Given the description of an element on the screen output the (x, y) to click on. 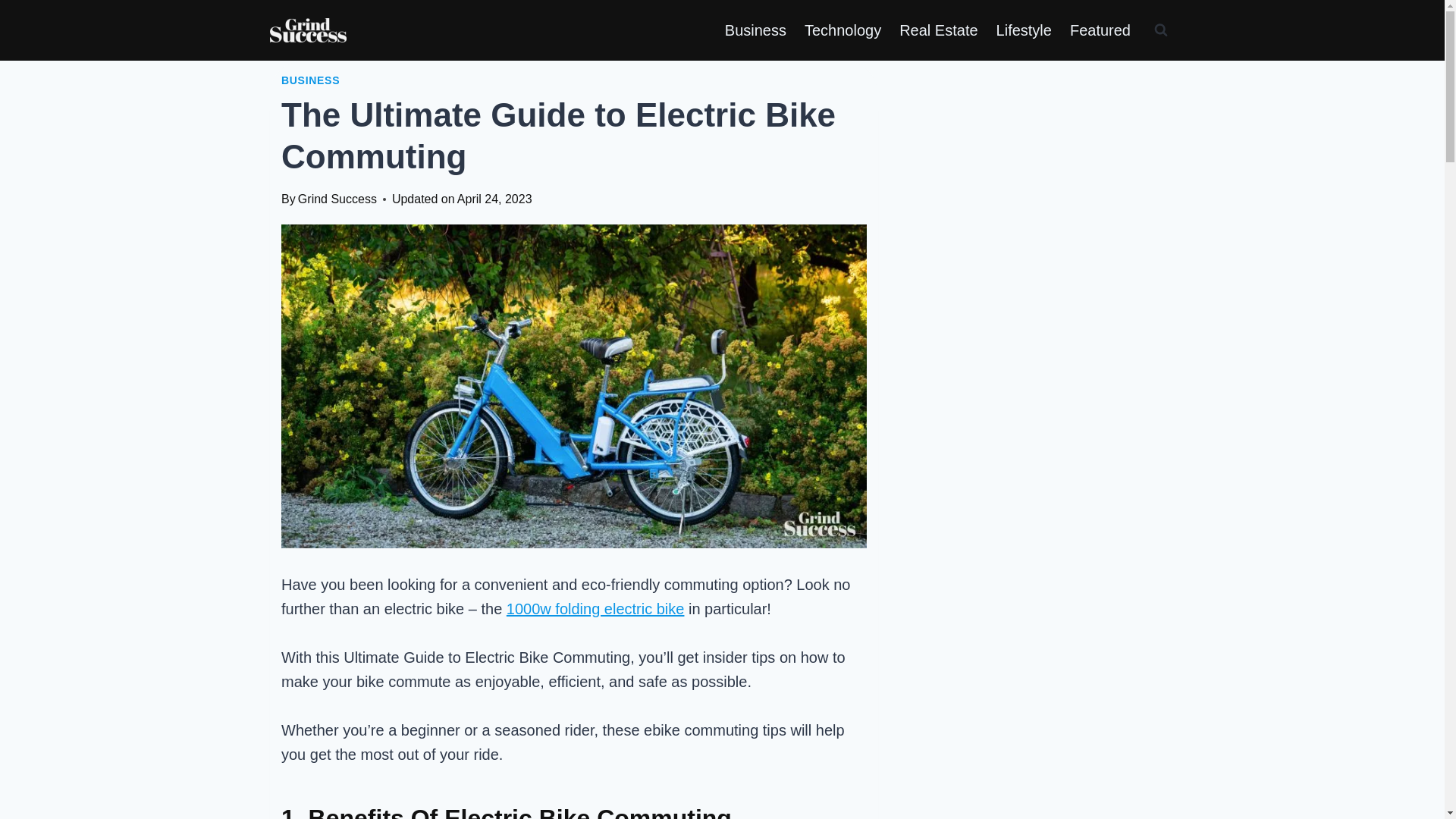
BUSINESS (310, 80)
Technology (841, 30)
Featured (1100, 30)
1000w folding electric bike (595, 608)
Lifestyle (1024, 30)
Business (755, 30)
Real Estate (938, 30)
